Given the description of an element on the screen output the (x, y) to click on. 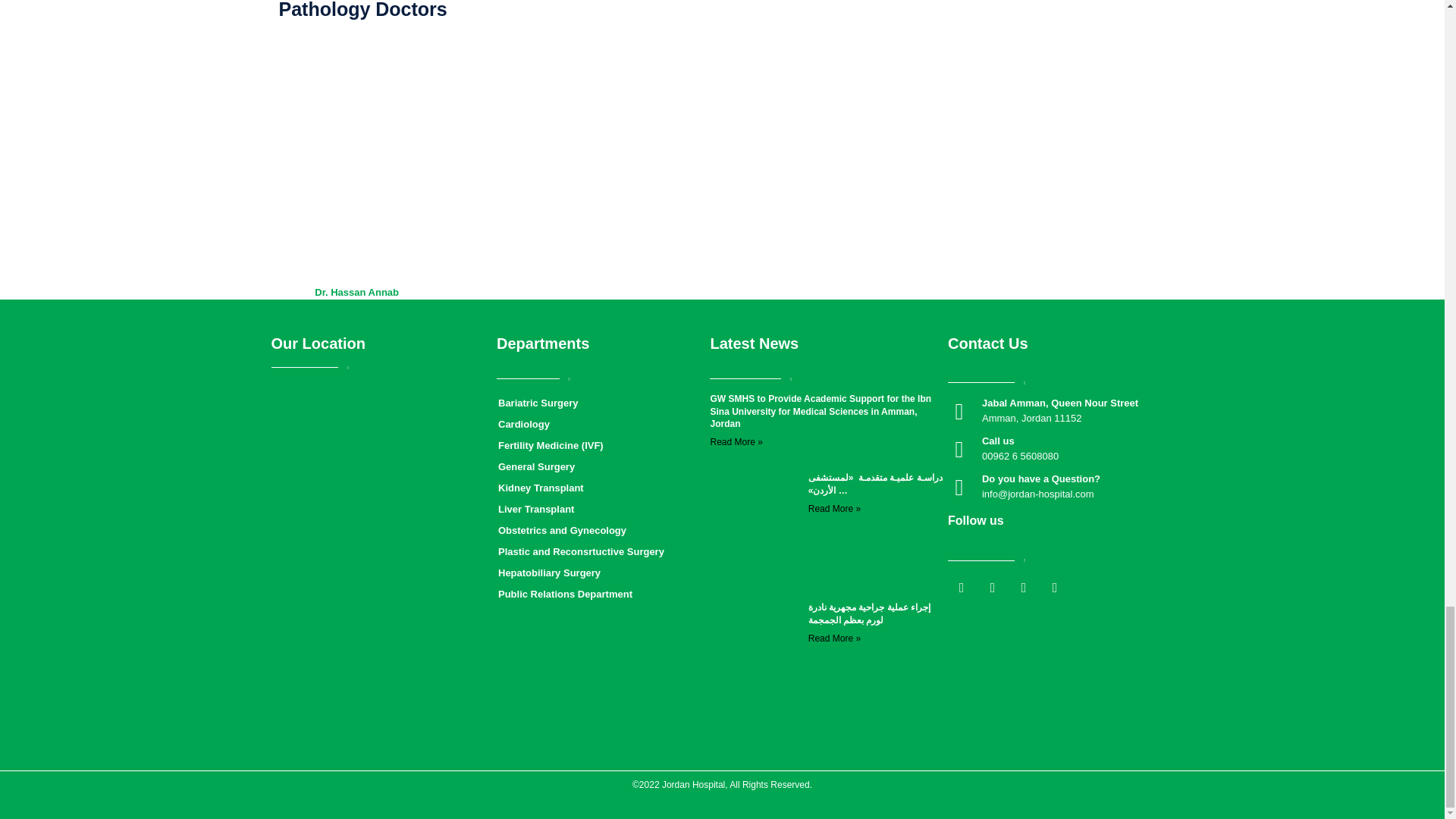
Jordan Hospital (383, 495)
